Given the description of an element on the screen output the (x, y) to click on. 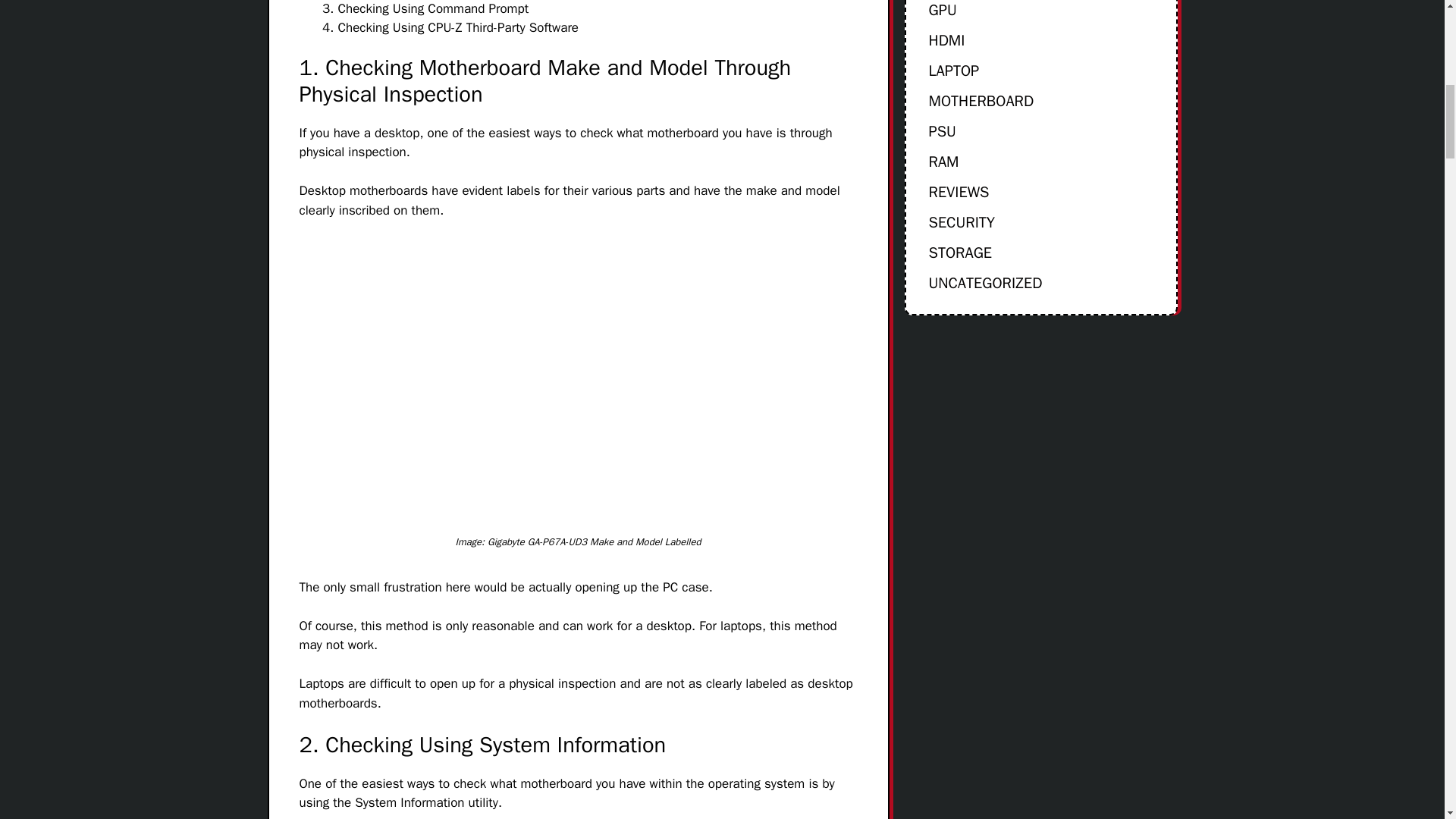
Scroll back to top (1406, 720)
